Given the description of an element on the screen output the (x, y) to click on. 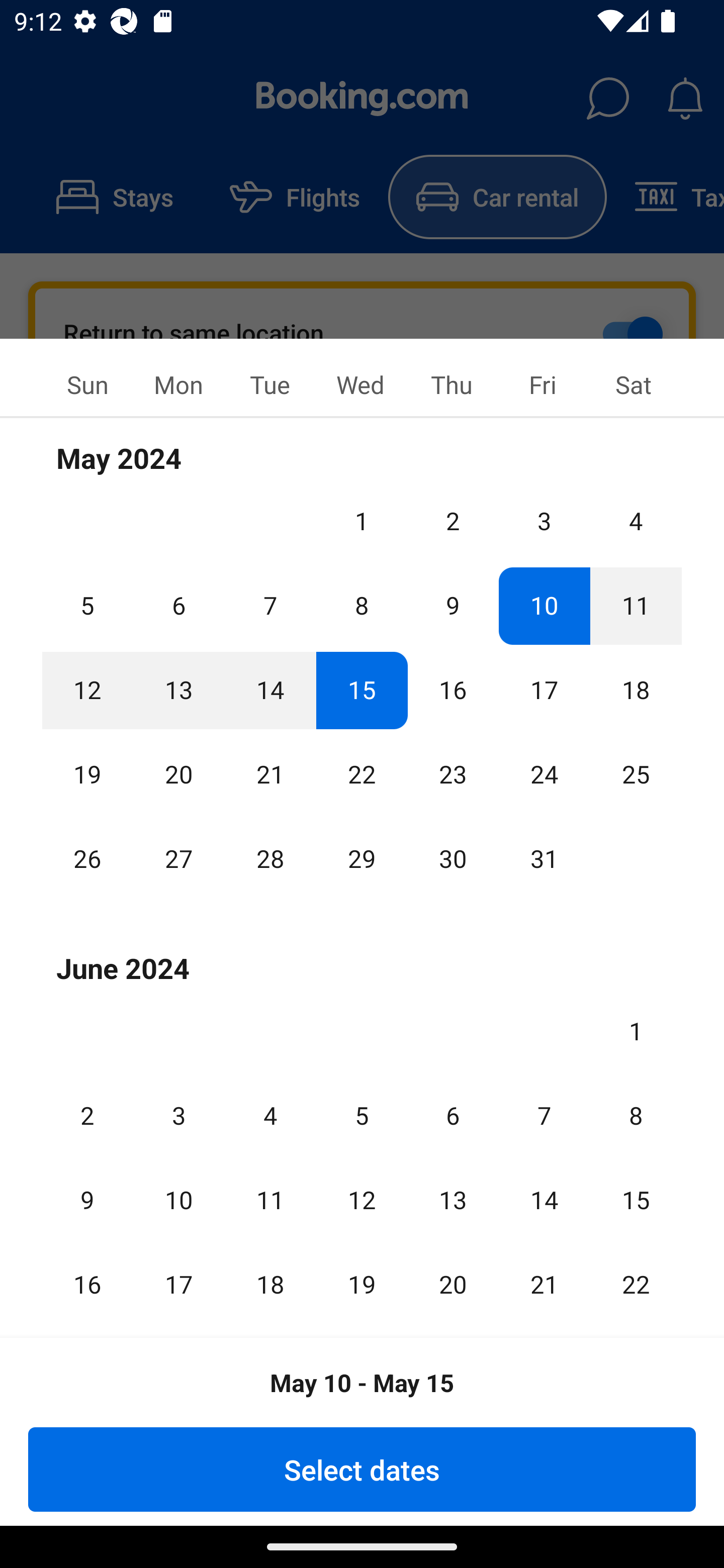
Select dates (361, 1468)
